Given the description of an element on the screen output the (x, y) to click on. 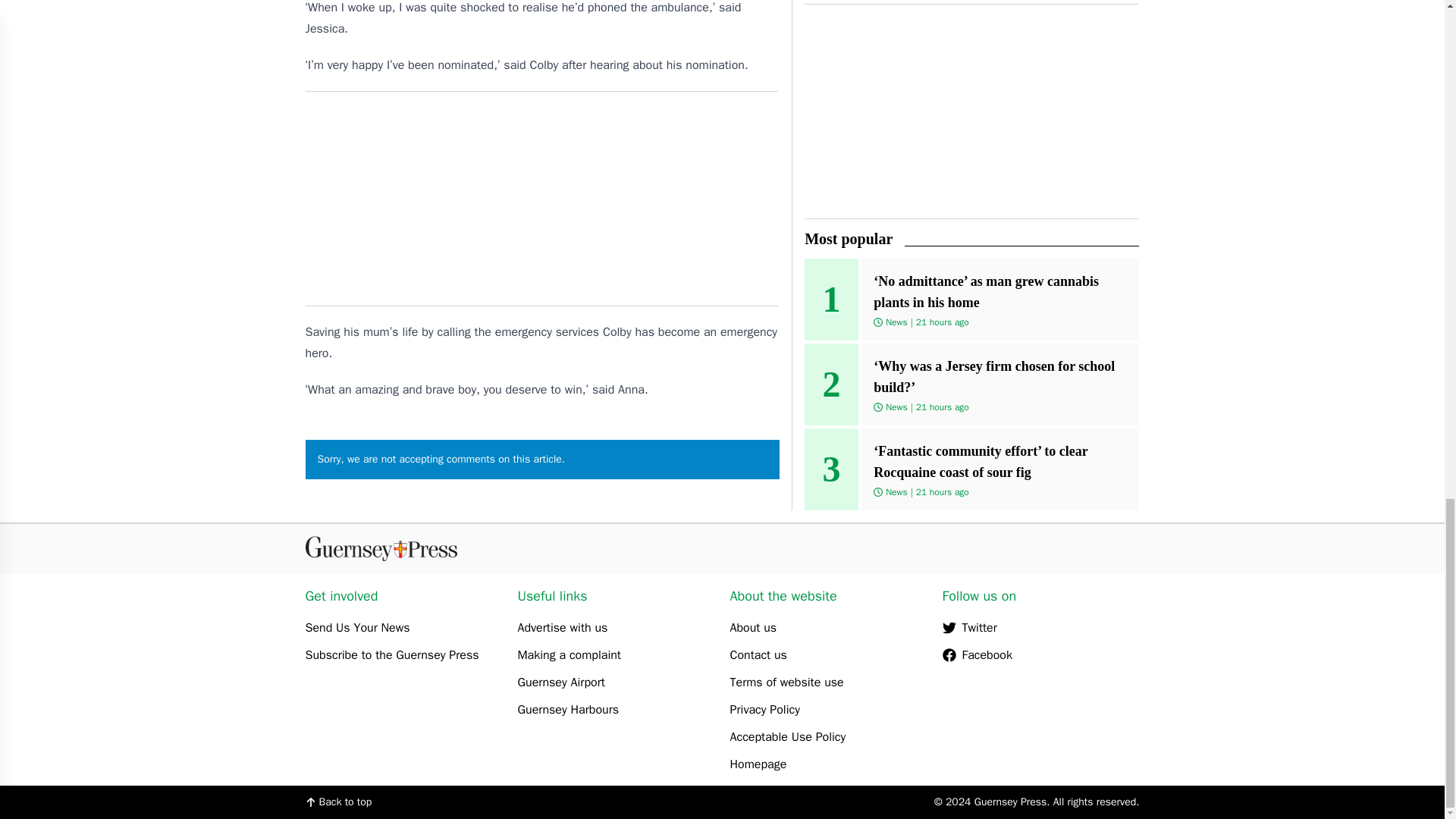
News (896, 407)
News (896, 491)
News (896, 322)
